Given the description of an element on the screen output the (x, y) to click on. 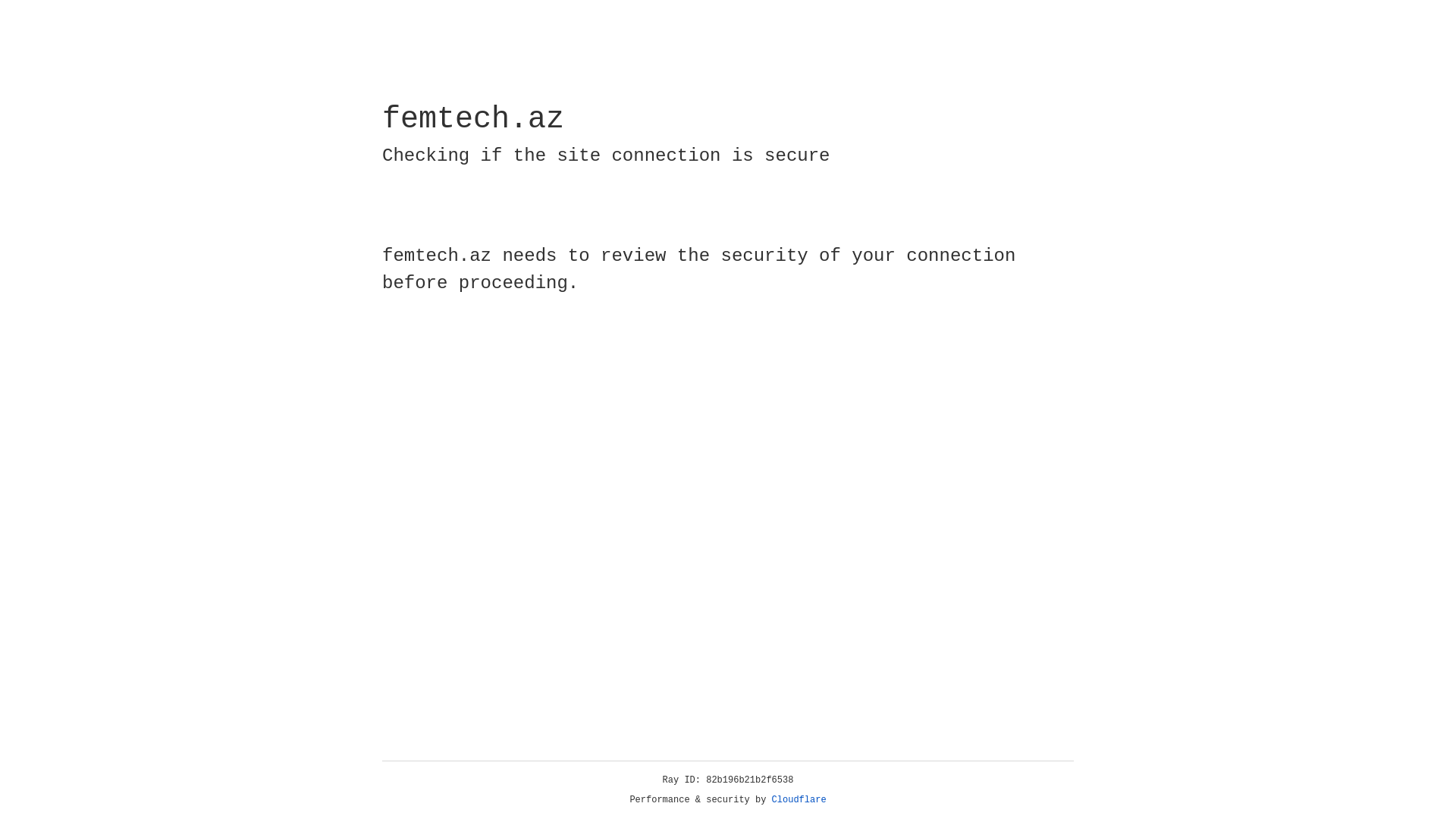
Cloudflare Element type: text (798, 799)
